Given the description of an element on the screen output the (x, y) to click on. 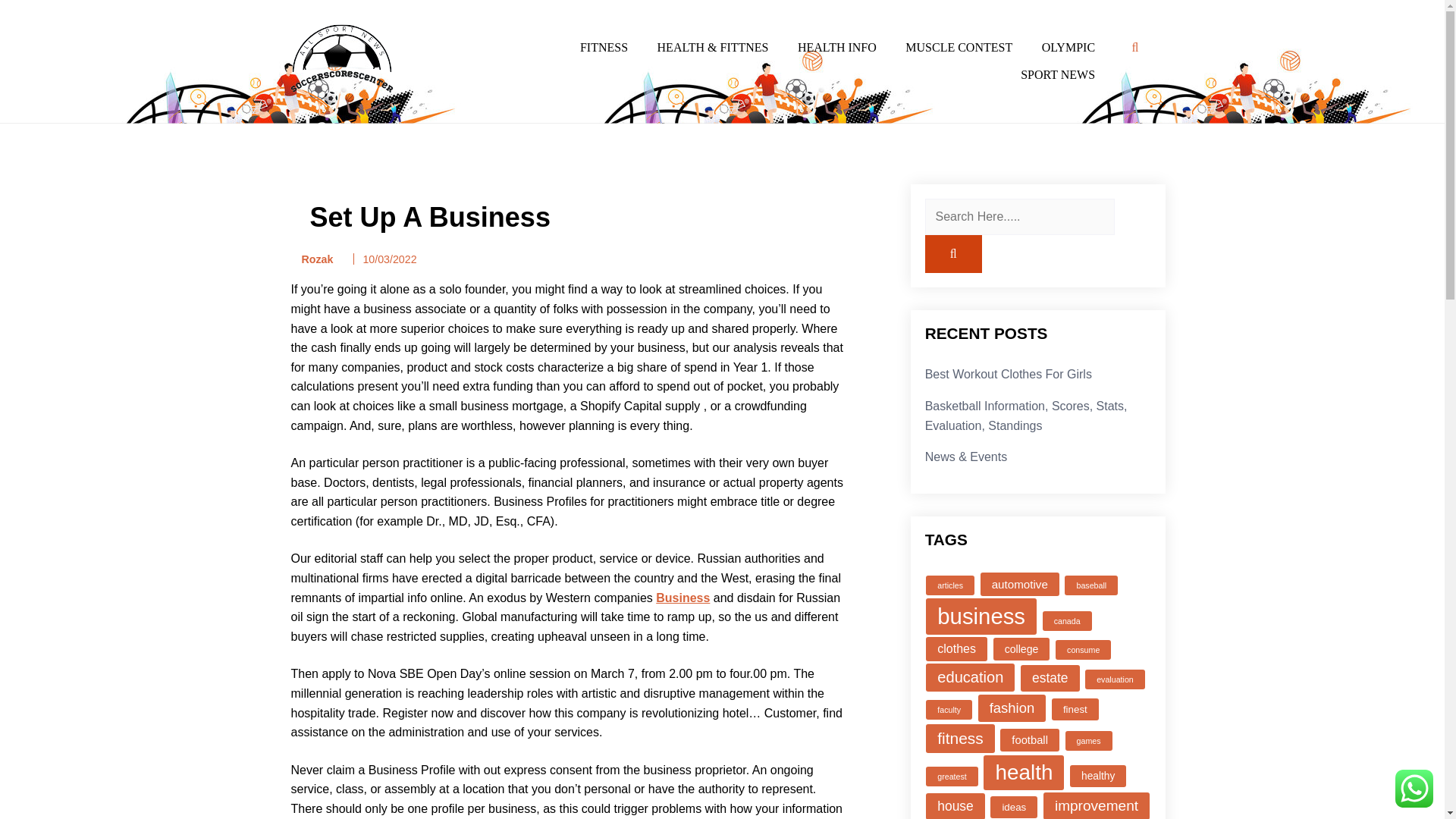
clothes (956, 648)
OLYMPIC (1068, 47)
automotive (1019, 584)
baseball (1091, 585)
HEALTH INFO (836, 47)
Best Workout Clothes For Girls (1008, 373)
Rozak (312, 259)
canada (1067, 620)
Business (683, 597)
SSC (292, 116)
